Given the description of an element on the screen output the (x, y) to click on. 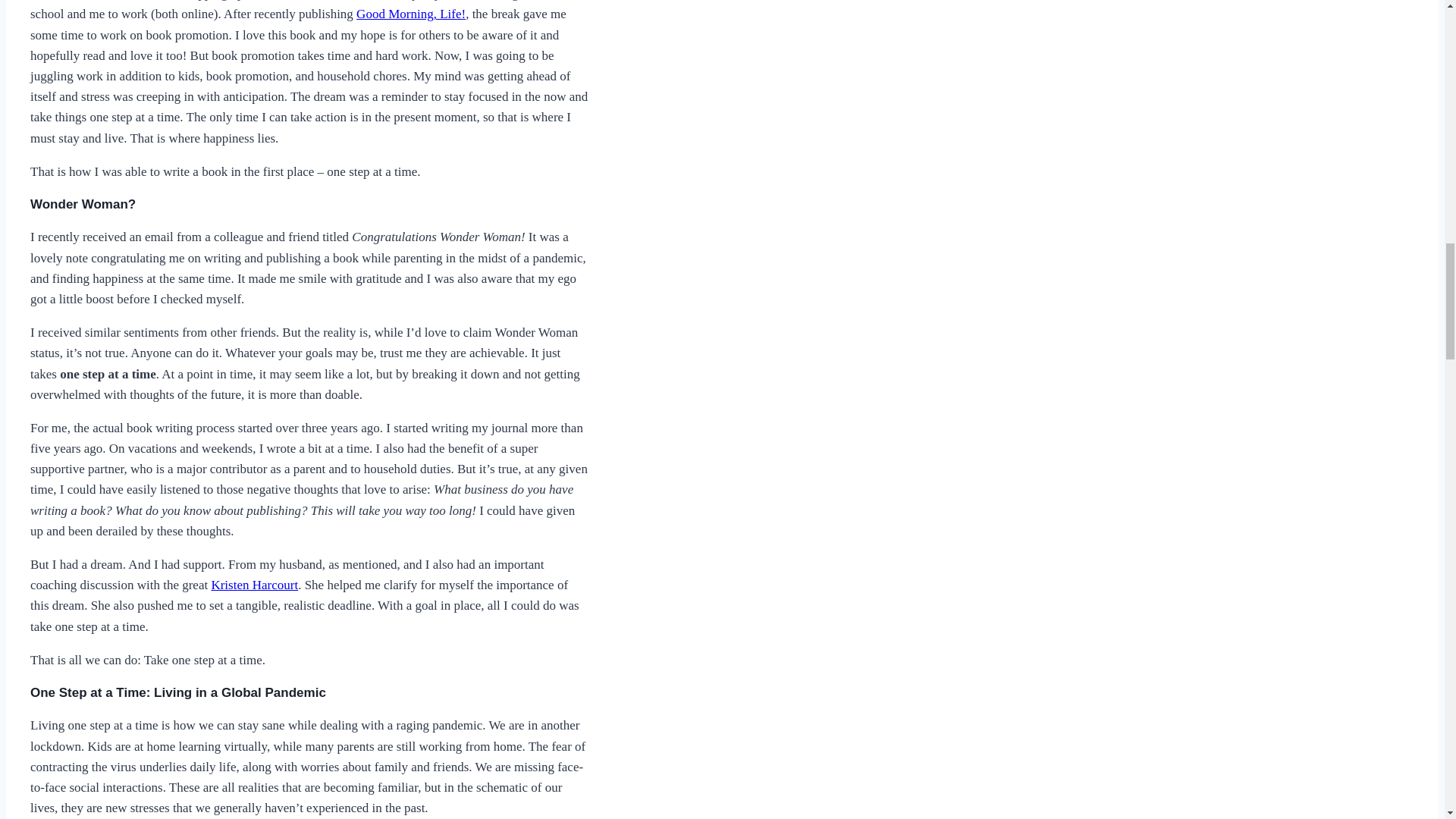
Good Morning, Life! (410, 13)
Kristen Harcourt (254, 585)
